Given the description of an element on the screen output the (x, y) to click on. 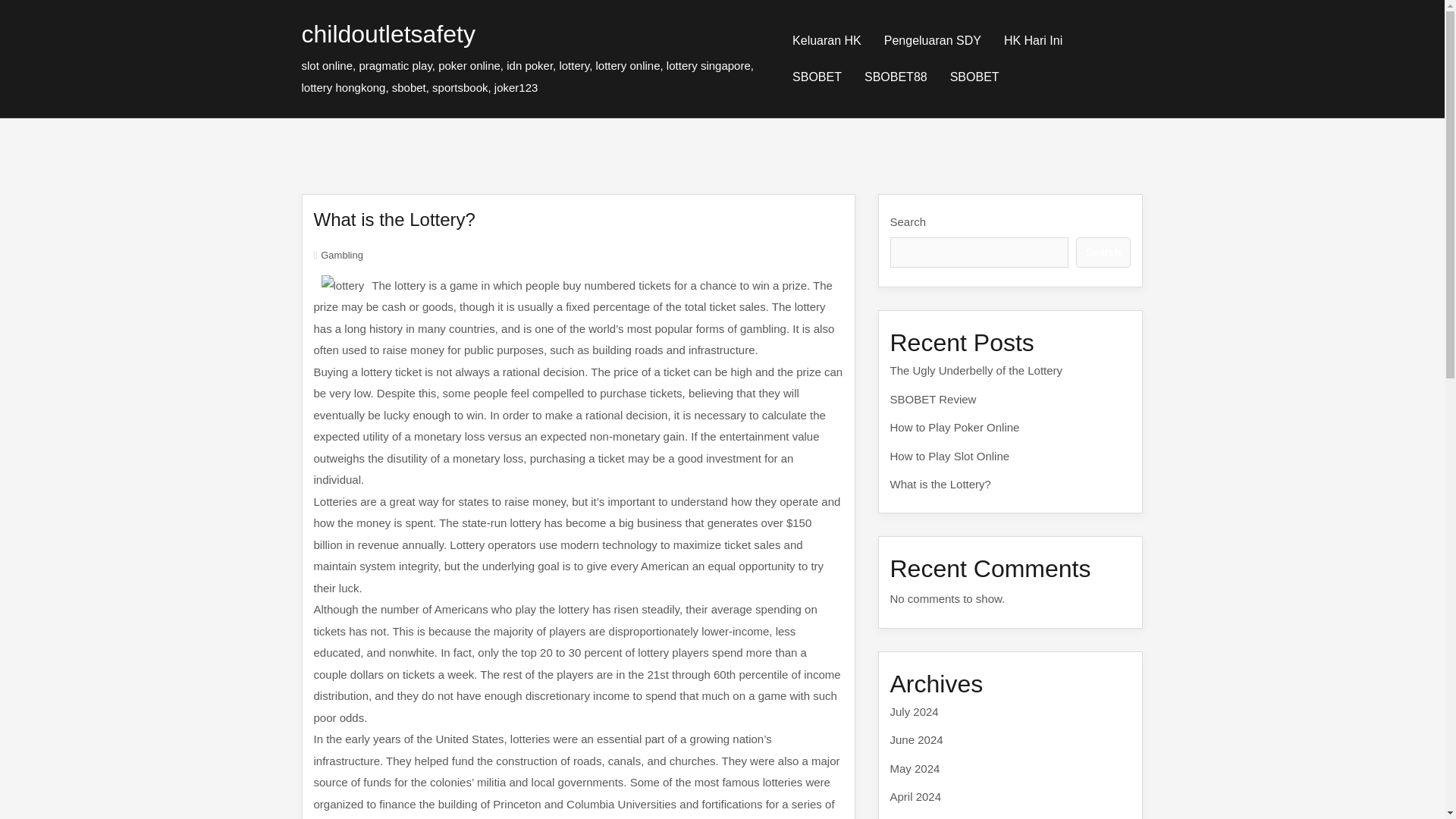
SBOBET (974, 76)
May 2024 (914, 767)
Gambling (341, 255)
The Ugly Underbelly of the Lottery (975, 369)
SBOBET Review (932, 399)
July 2024 (914, 711)
June 2024 (916, 739)
Search (1103, 251)
Pengeluaran SDY (932, 40)
Keluaran HK (826, 40)
SBOBET (974, 76)
HK Hari Ini (1033, 40)
What is the Lottery? (940, 483)
How to Play Poker Online (954, 427)
Keluaran HK (826, 40)
